Given the description of an element on the screen output the (x, y) to click on. 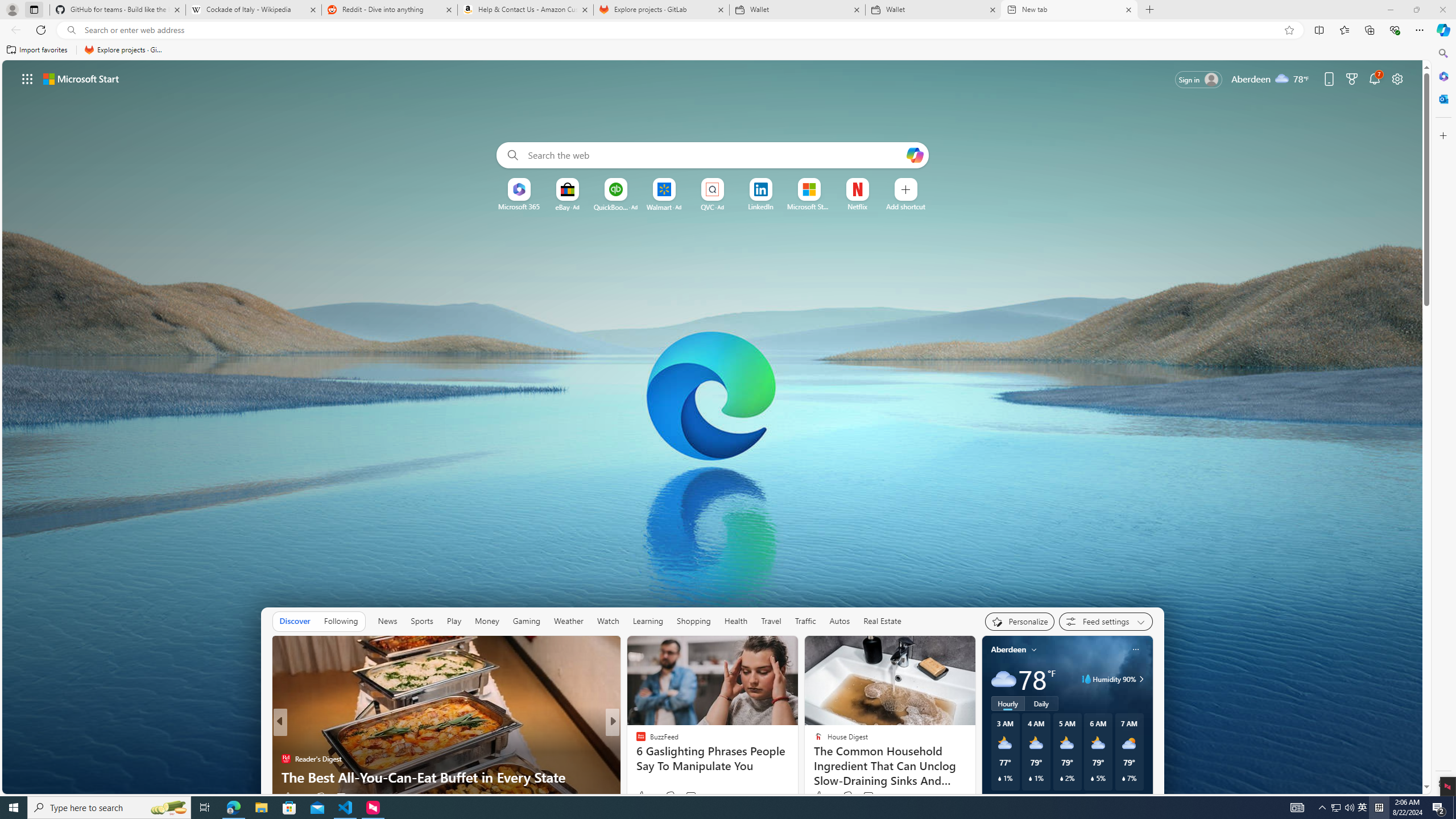
Type here to search (108, 807)
More options (1135, 649)
Add a site (906, 206)
Boeing faces another headwind after LATAM Airlines plunge (796, 767)
Personalize your feed" (1019, 621)
Autos (839, 621)
Humidity 90% (1139, 678)
Close Outlook pane (1442, 98)
Discover (294, 621)
Hourly (1007, 703)
Visual Studio Code - 1 running window (345, 807)
